Given the description of an element on the screen output the (x, y) to click on. 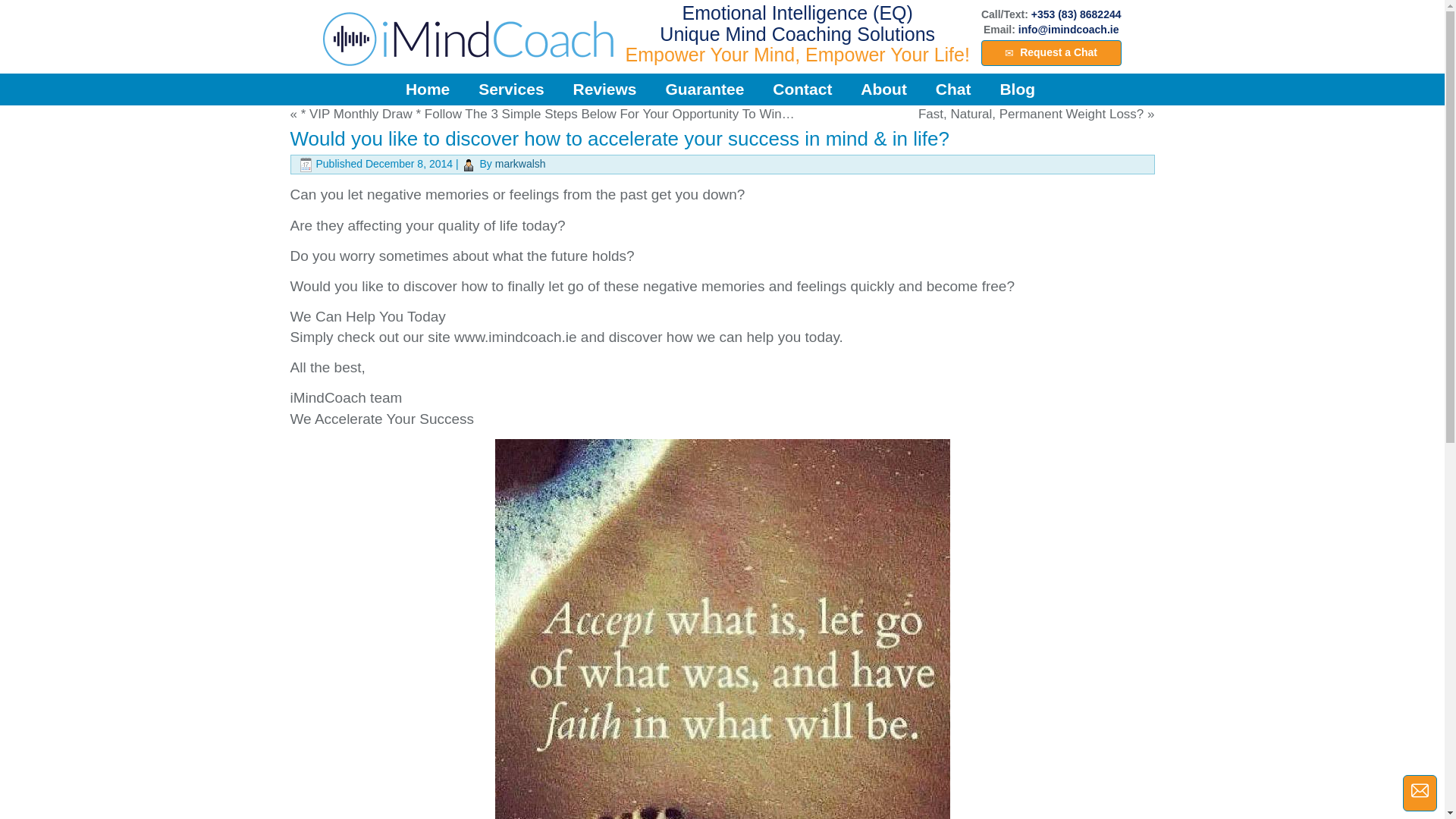
12:25 pm (408, 163)
  Request a Chat (1051, 53)
Chat (953, 89)
Blog (1017, 89)
Contact (802, 89)
Guarantee (704, 89)
Home (428, 89)
About (883, 89)
Reviews (604, 89)
Home (428, 89)
